Given the description of an element on the screen output the (x, y) to click on. 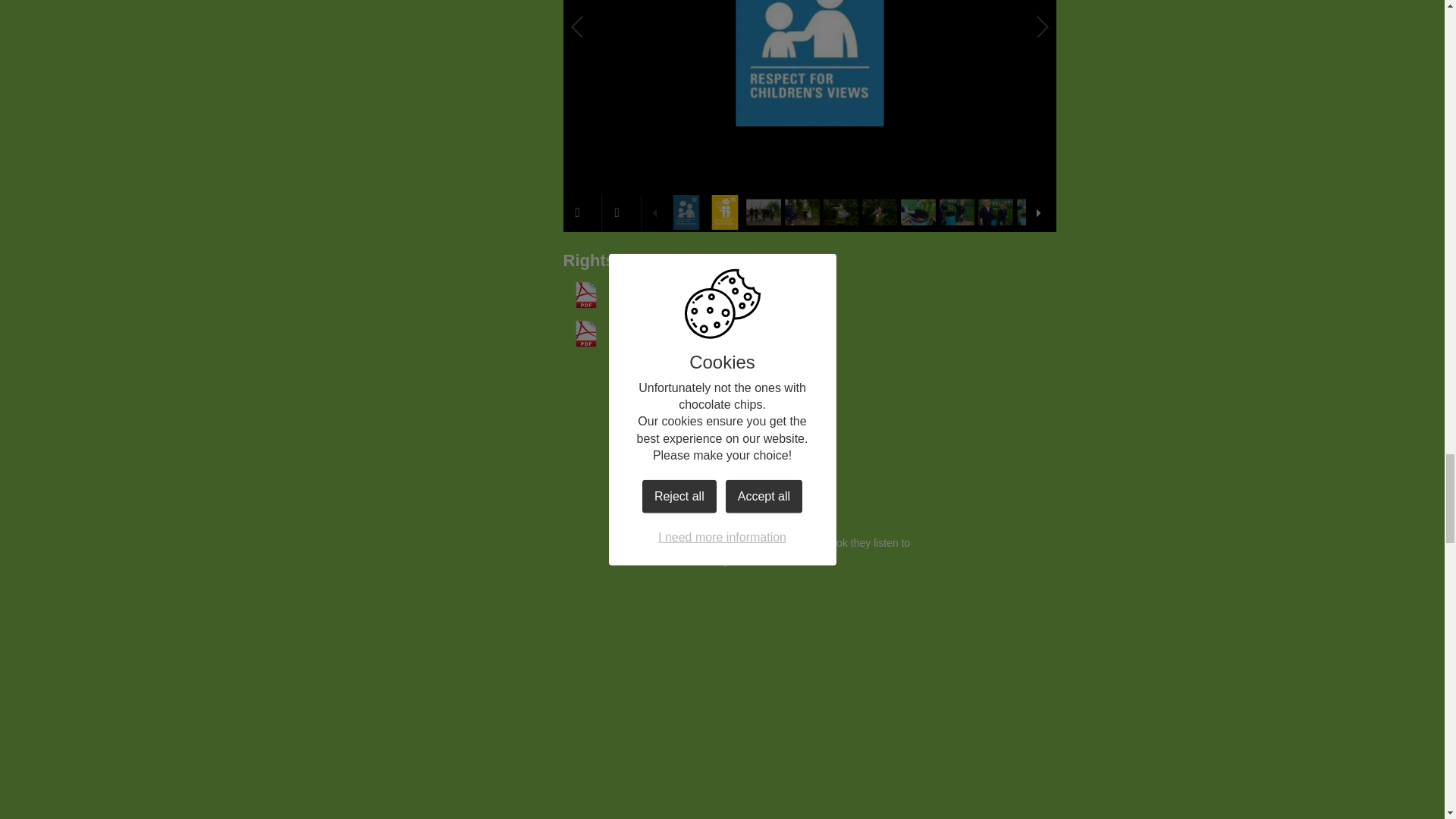
rights re lesson.pdf (634, 294)
letters including articles.pdf (655, 333)
